Given the description of an element on the screen output the (x, y) to click on. 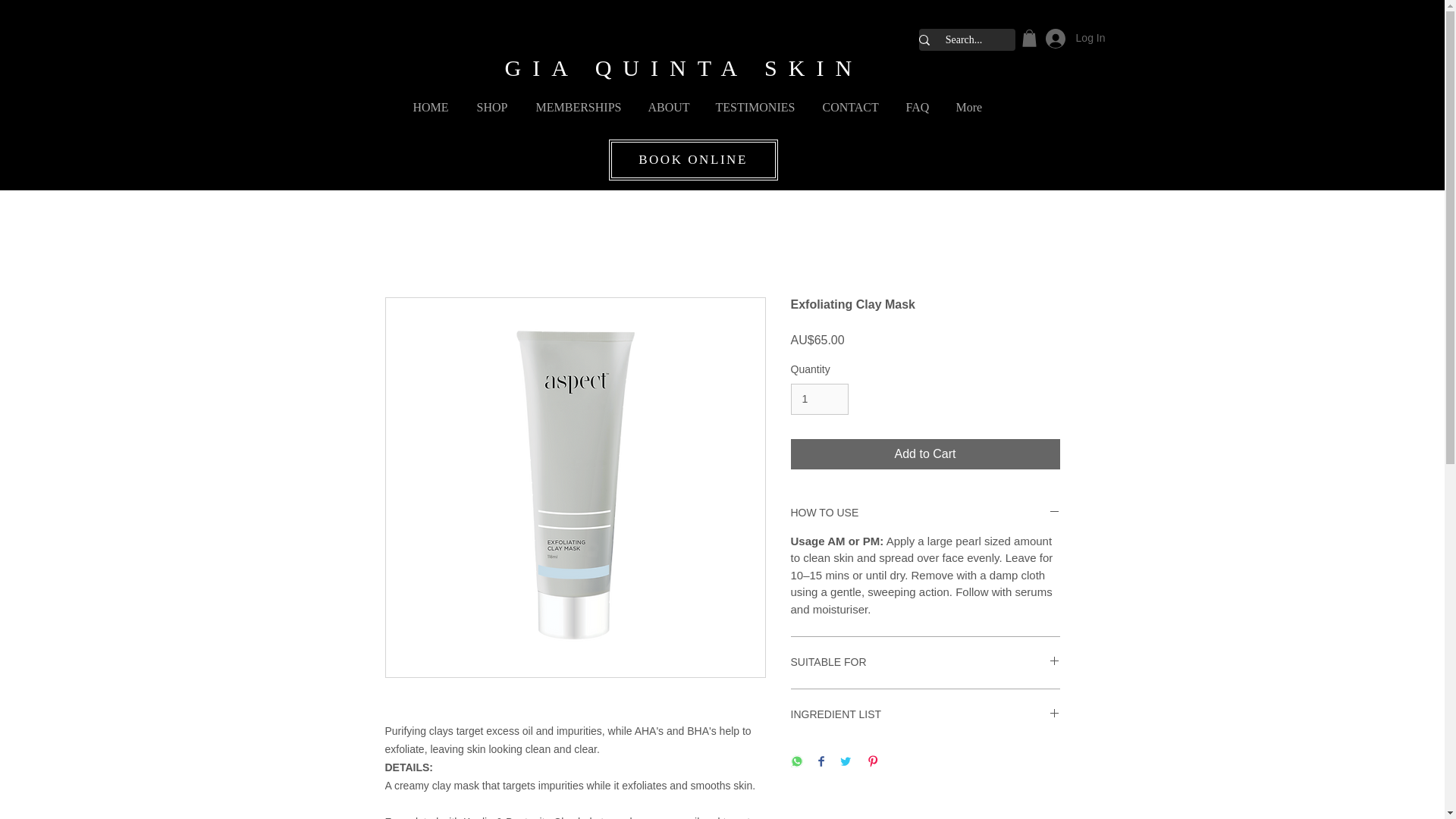
Log In (1075, 38)
MEMBERSHIPS (577, 100)
HOME (430, 100)
FAQ (916, 100)
CONTACT (849, 100)
INGREDIENT LIST (924, 714)
SHOP (492, 100)
HOW TO USE (924, 513)
GIA QUINTA SKIN (684, 67)
TESTIMONIES (755, 100)
